Given the description of an element on the screen output the (x, y) to click on. 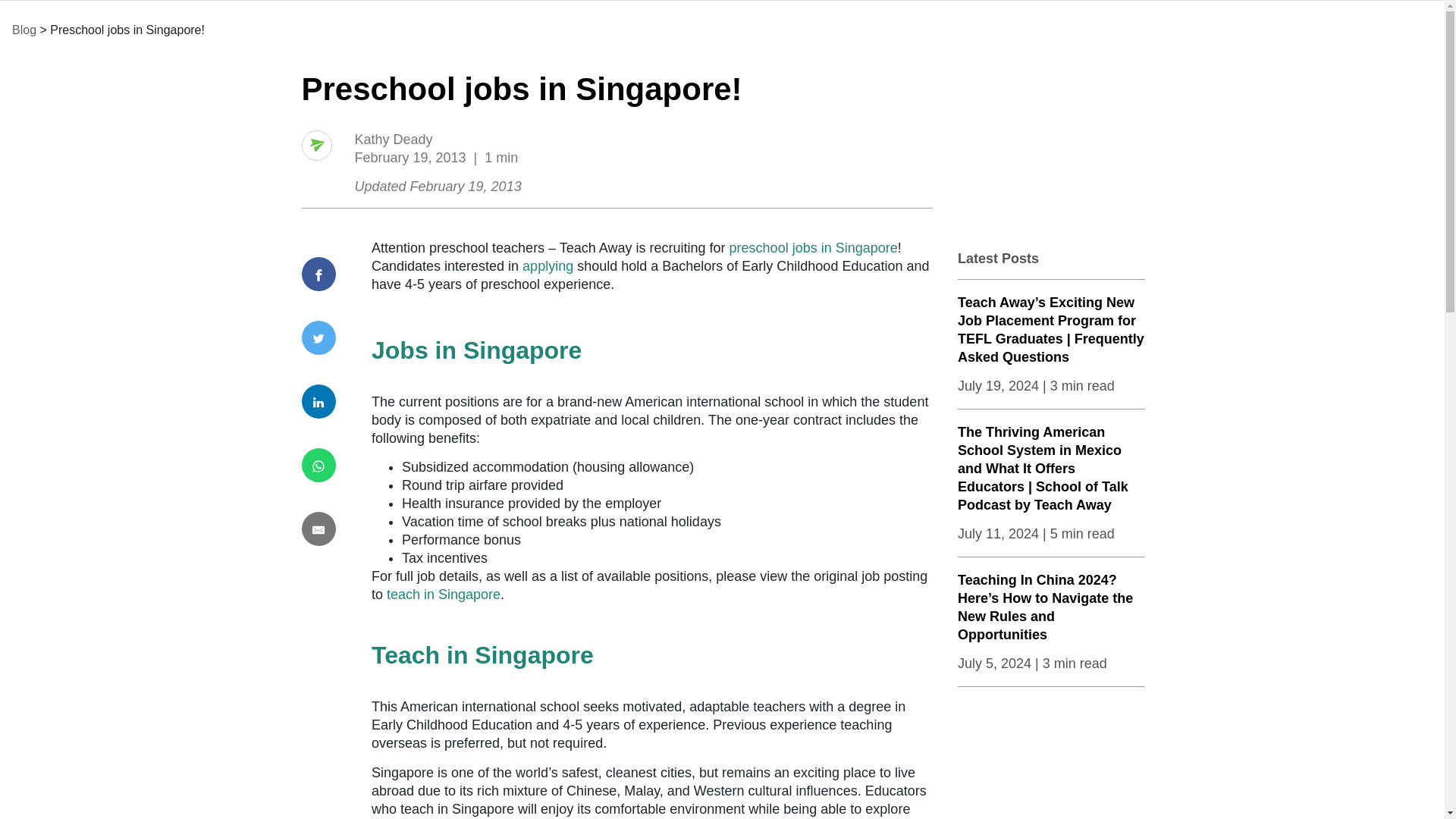
Teaching Jobs Abroad (335, 28)
JOBS (335, 28)
